Given the description of an element on the screen output the (x, y) to click on. 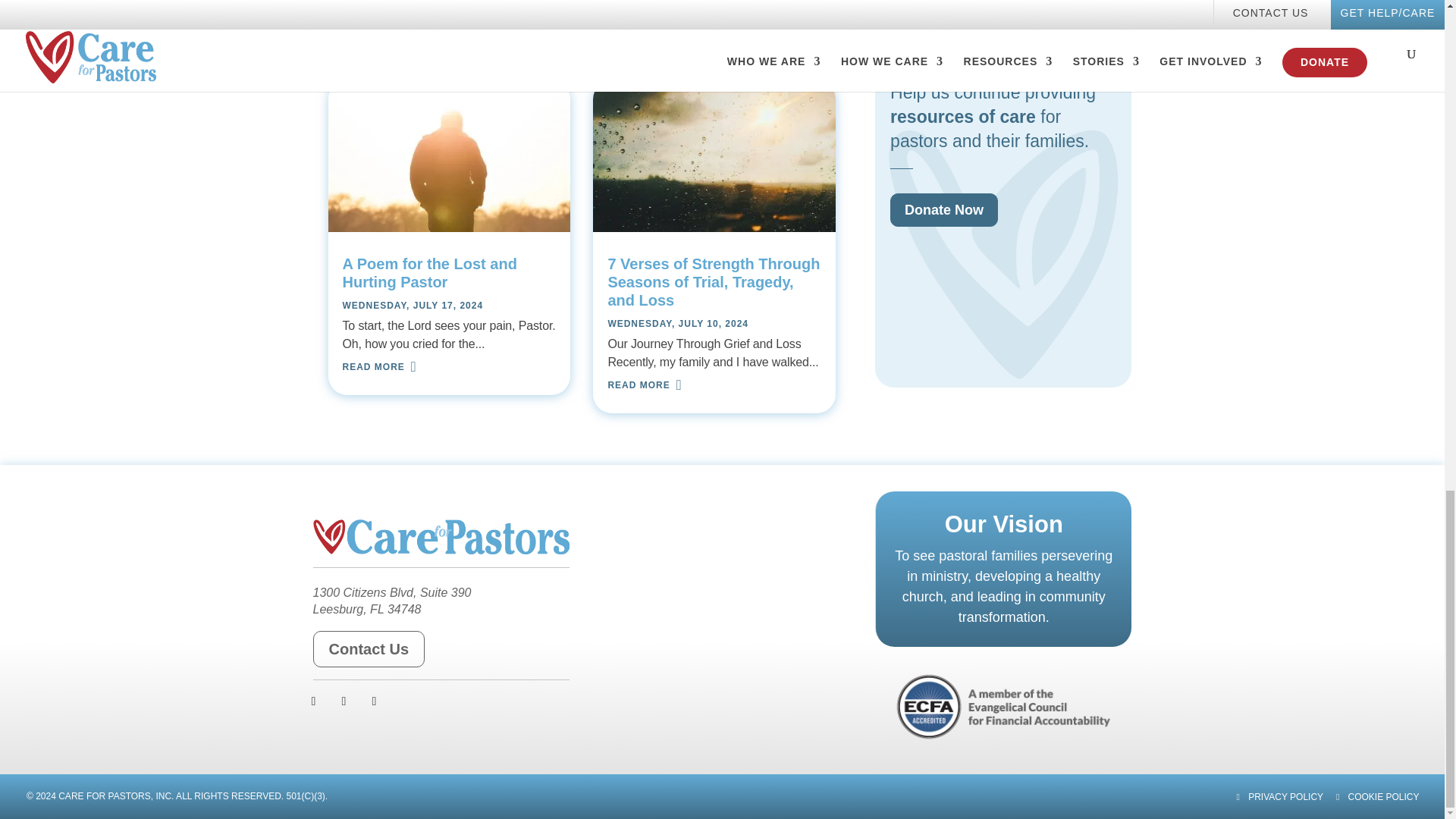
Follow on Youtube (374, 701)
ecfa-badge1 (1003, 706)
Follow on X (343, 701)
Follow on Facebook (313, 701)
